Given the description of an element on the screen output the (x, y) to click on. 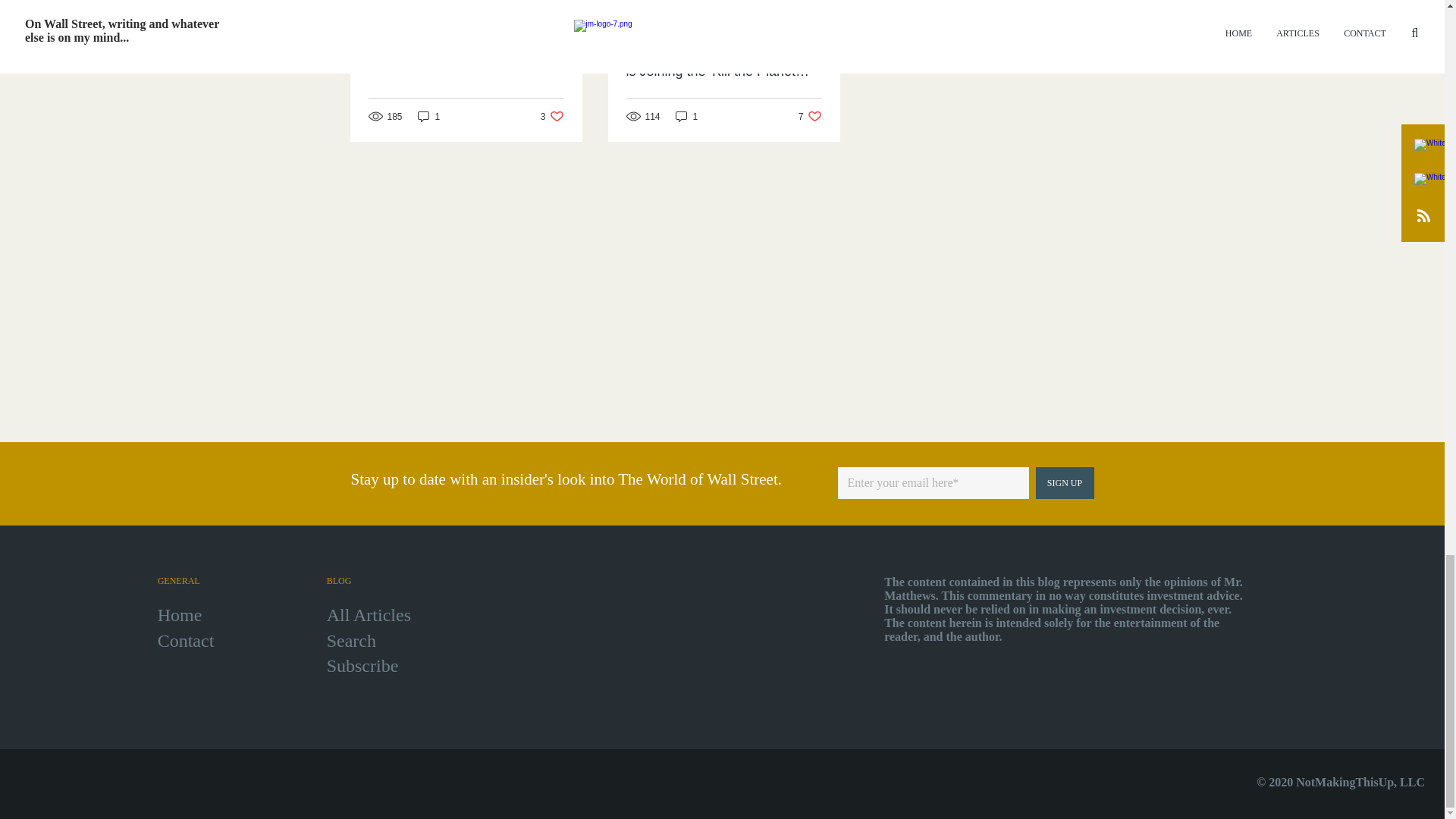
Subscribe (362, 665)
1 (429, 115)
Contact (552, 115)
Search (185, 640)
1 (350, 640)
Home (809, 115)
All Articles (687, 115)
